Given the description of an element on the screen output the (x, y) to click on. 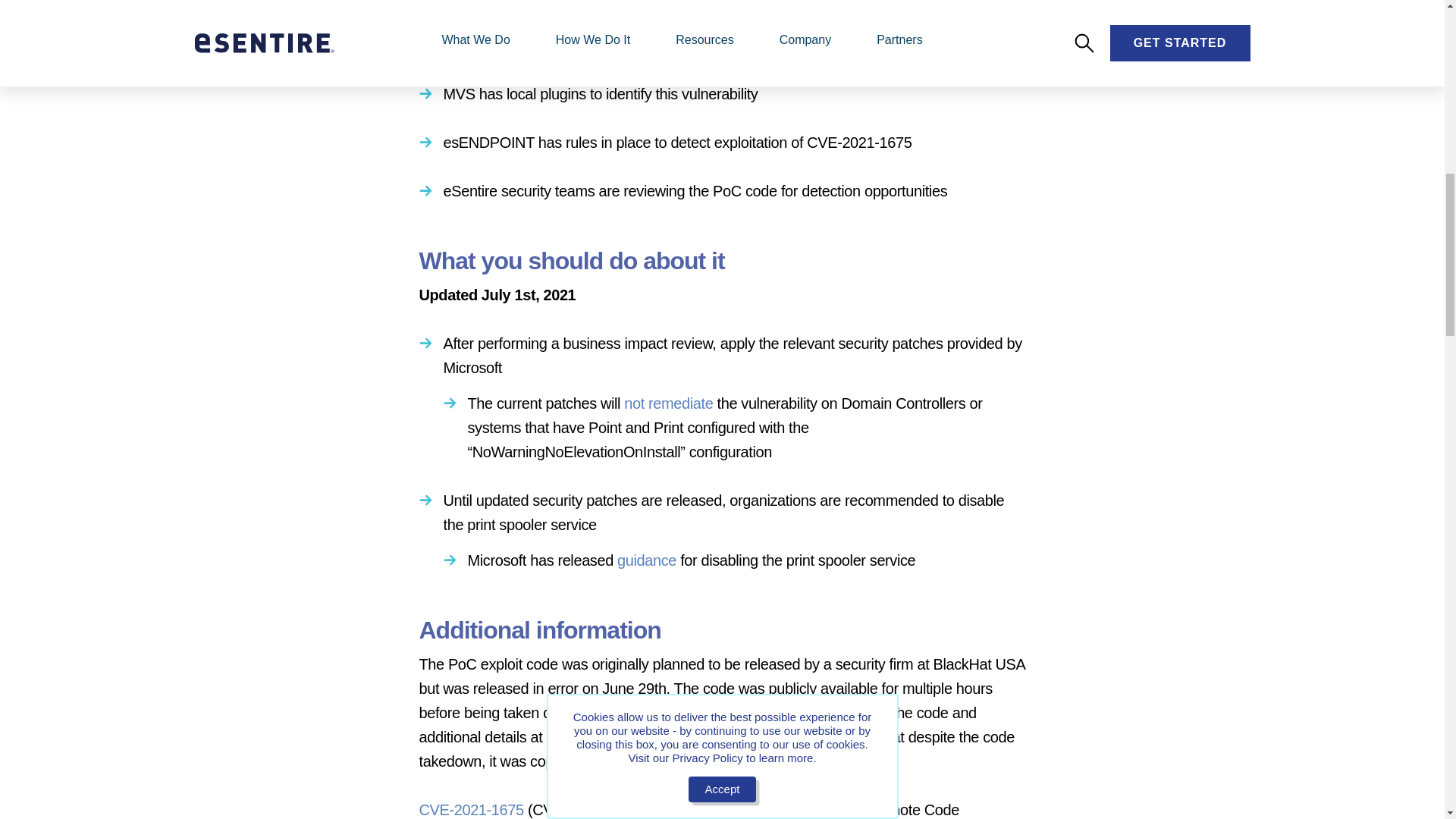
not remediate (668, 402)
guidance (647, 560)
CVE-2021-1675 (470, 809)
